Given the description of an element on the screen output the (x, y) to click on. 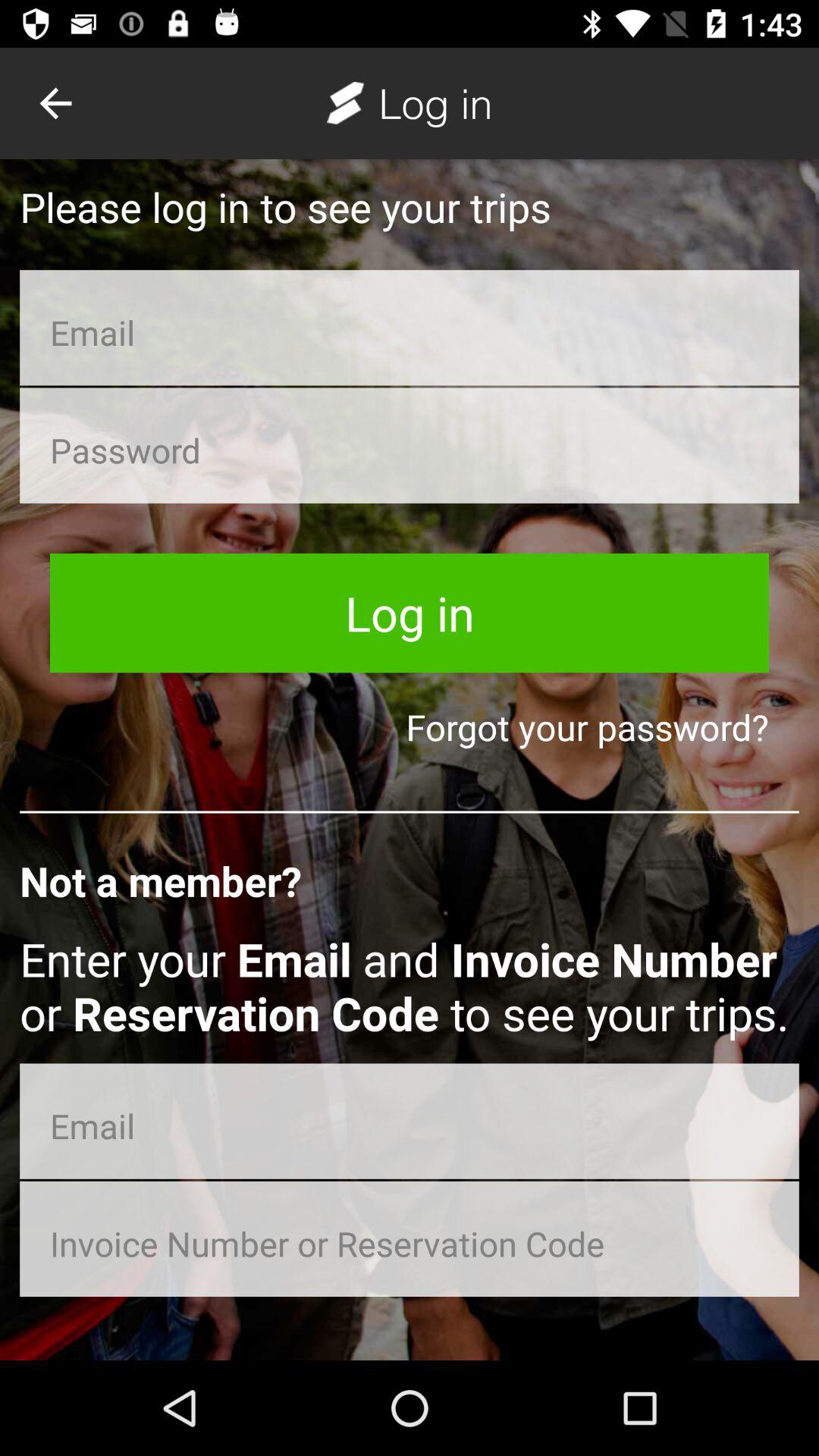
scroll to the forgot your password? item (409, 726)
